Given the description of an element on the screen output the (x, y) to click on. 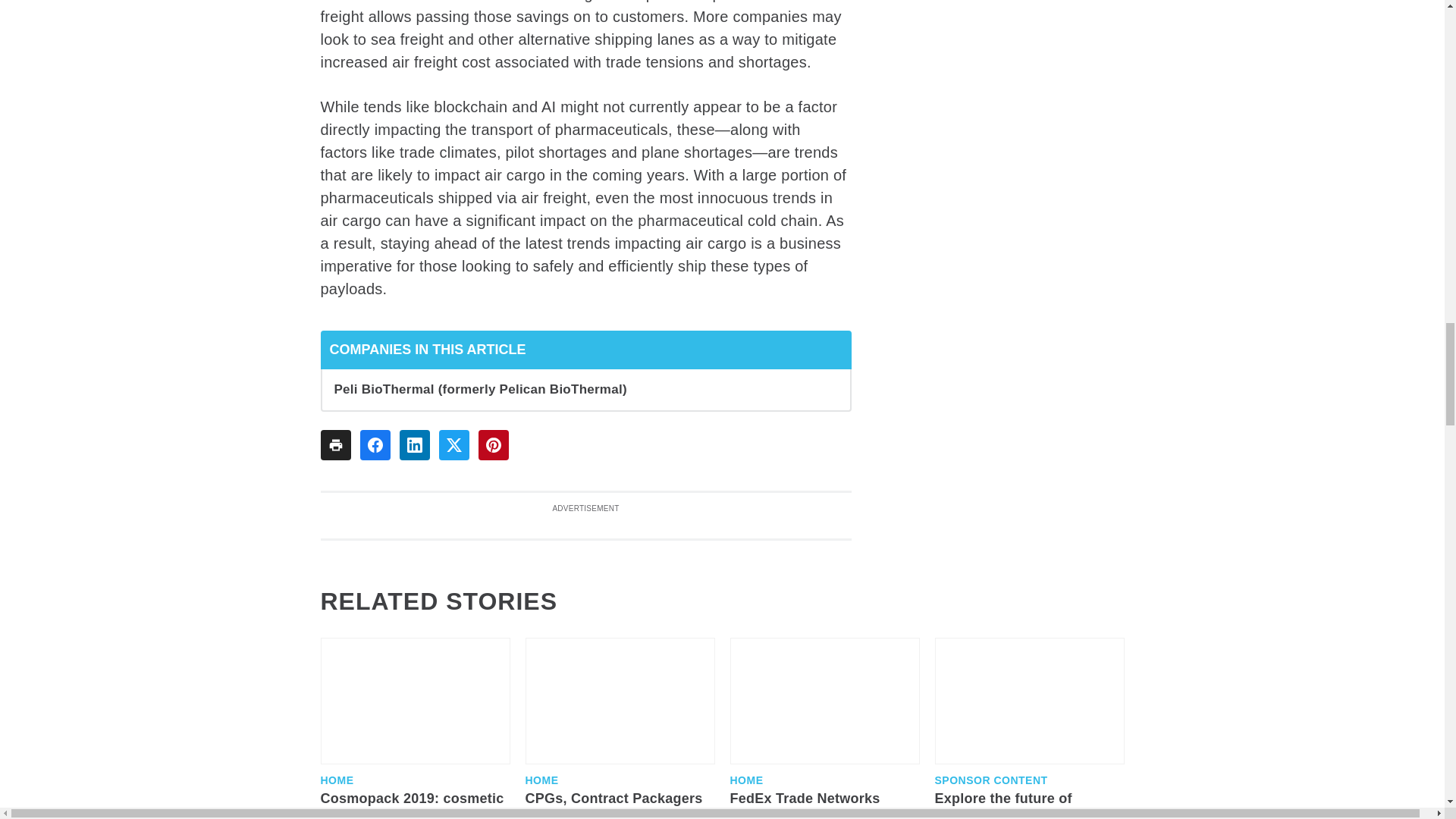
Share To twitter (453, 444)
Share To pinterest (492, 444)
Share To linkedin (413, 444)
Share To print (335, 444)
Share To facebook (374, 444)
